Given the description of an element on the screen output the (x, y) to click on. 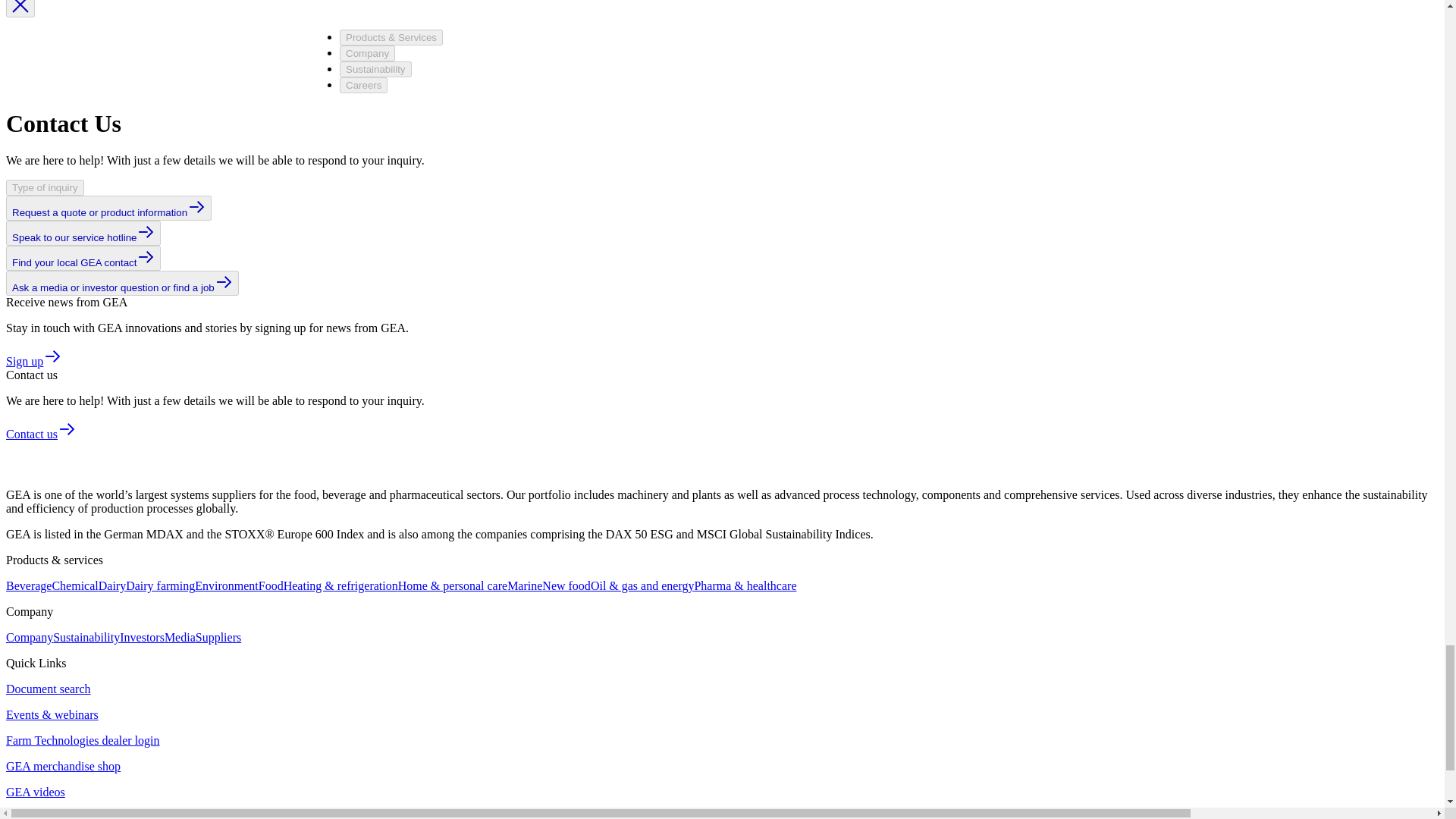
Media (179, 636)
Company (28, 636)
Suppliers (218, 636)
Sustainability (85, 636)
Investors (141, 636)
